Given the description of an element on the screen output the (x, y) to click on. 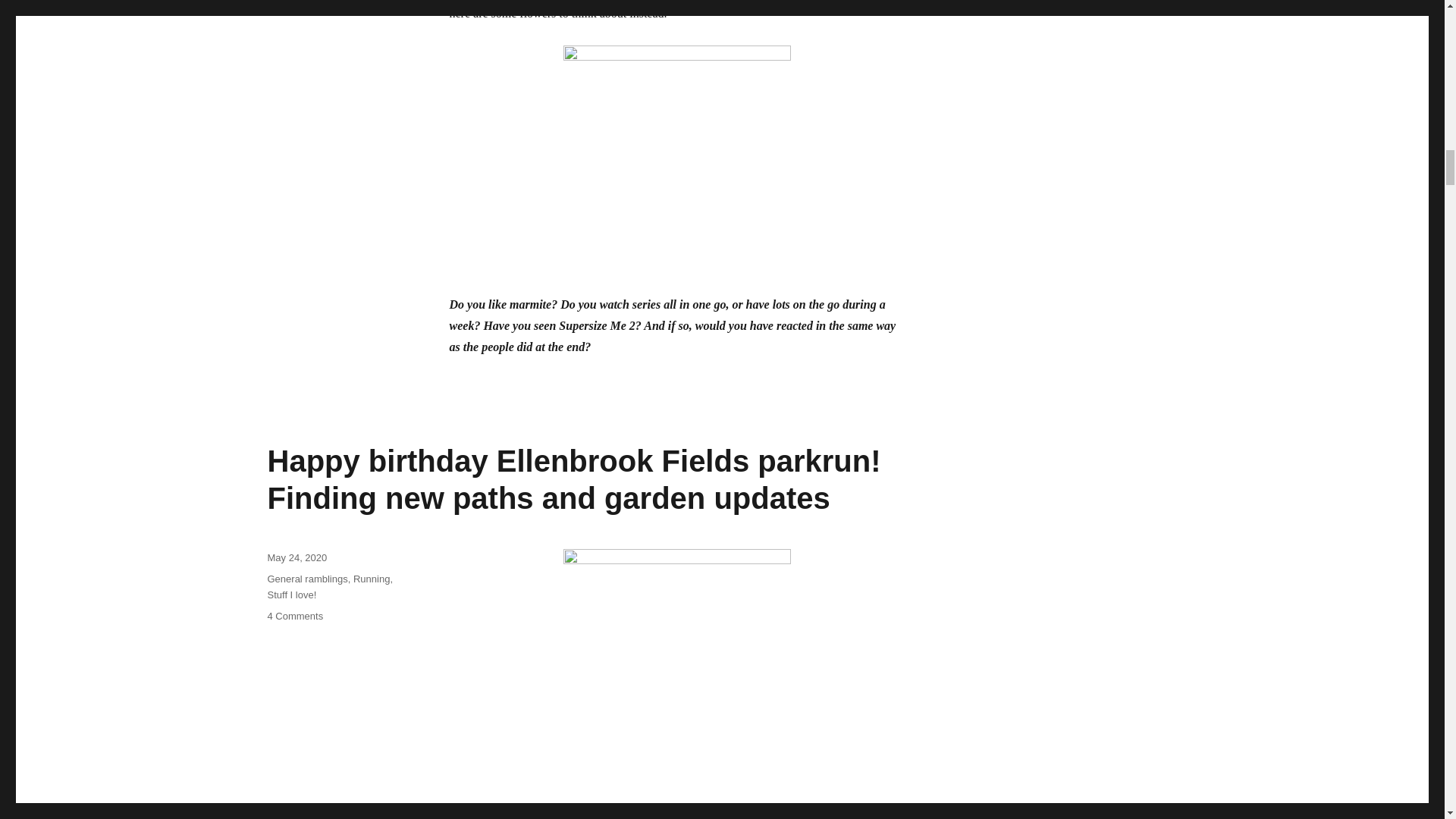
General ramblings (306, 578)
Running (371, 578)
May 24, 2020 (296, 557)
Stuff I love! (290, 594)
